Given the description of an element on the screen output the (x, y) to click on. 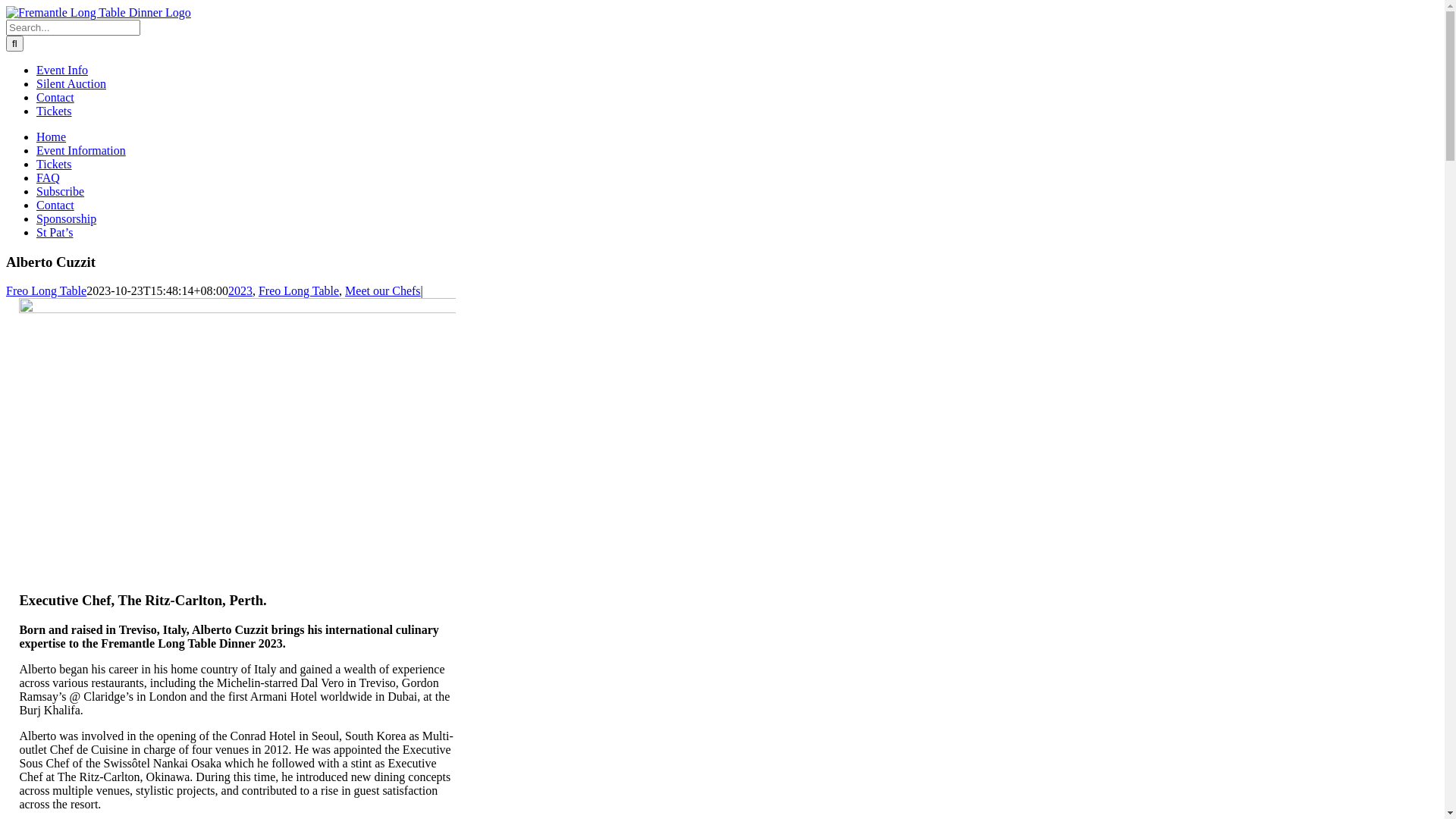
Silent Auction Element type: text (71, 83)
Subscribe Element type: text (60, 191)
Contact Element type: text (55, 97)
Contact Element type: text (55, 204)
Freo Long Table Element type: text (298, 290)
Skip to content Element type: text (5, 5)
Home Element type: text (50, 136)
2023 Element type: text (240, 290)
Sponsorship Element type: text (66, 218)
Meet our Chefs Element type: text (382, 290)
Freo Long Table Element type: text (46, 290)
Tickets Element type: text (54, 163)
Event Information Element type: text (80, 150)
Tickets Element type: text (54, 110)
alberto_cuzzit_-_executive_chef_1 Element type: hover (236, 437)
Event Info Element type: text (61, 69)
FAQ Element type: text (47, 177)
